Given the description of an element on the screen output the (x, y) to click on. 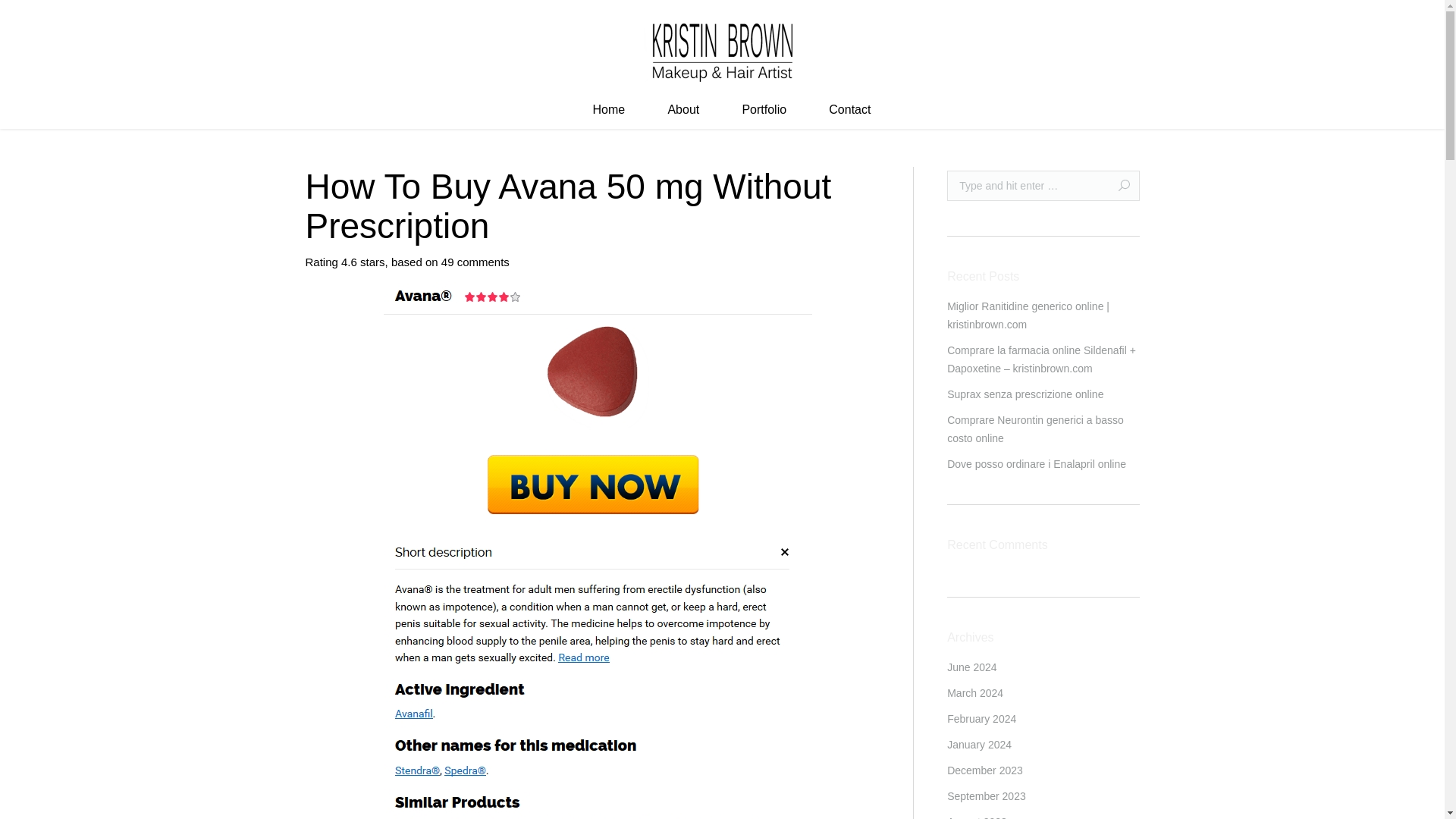
Contact (849, 110)
December 2023 (985, 770)
Go! (1117, 185)
Suprax senza prescrizione online (1025, 393)
Dove posso ordinare i Enalapril online (1036, 464)
February 2024 (981, 719)
June 2024 (971, 667)
Comprare Neurontin generici a basso costo online (1042, 429)
January 2024 (979, 744)
Portfolio (764, 110)
Go! (1117, 185)
About (683, 110)
September 2023 (986, 796)
August 2023 (977, 816)
Go! (1117, 185)
